Given the description of an element on the screen output the (x, y) to click on. 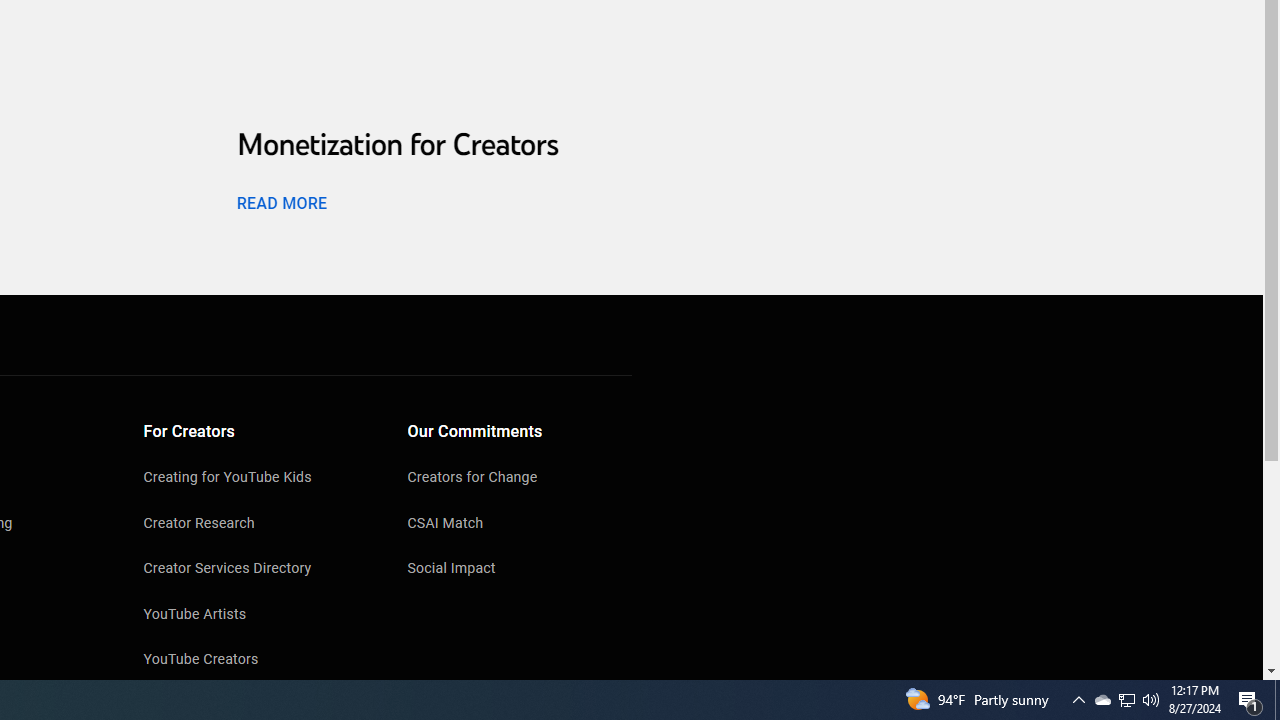
Social Impact (519, 570)
Creator Research (255, 524)
Creating for YouTube Kids (255, 479)
Creator Services Directory (255, 570)
READ MORE (281, 202)
CSAI Match (519, 524)
YouTube Creators (255, 660)
Creators for Change (519, 479)
YouTube Artists (255, 616)
